Given the description of an element on the screen output the (x, y) to click on. 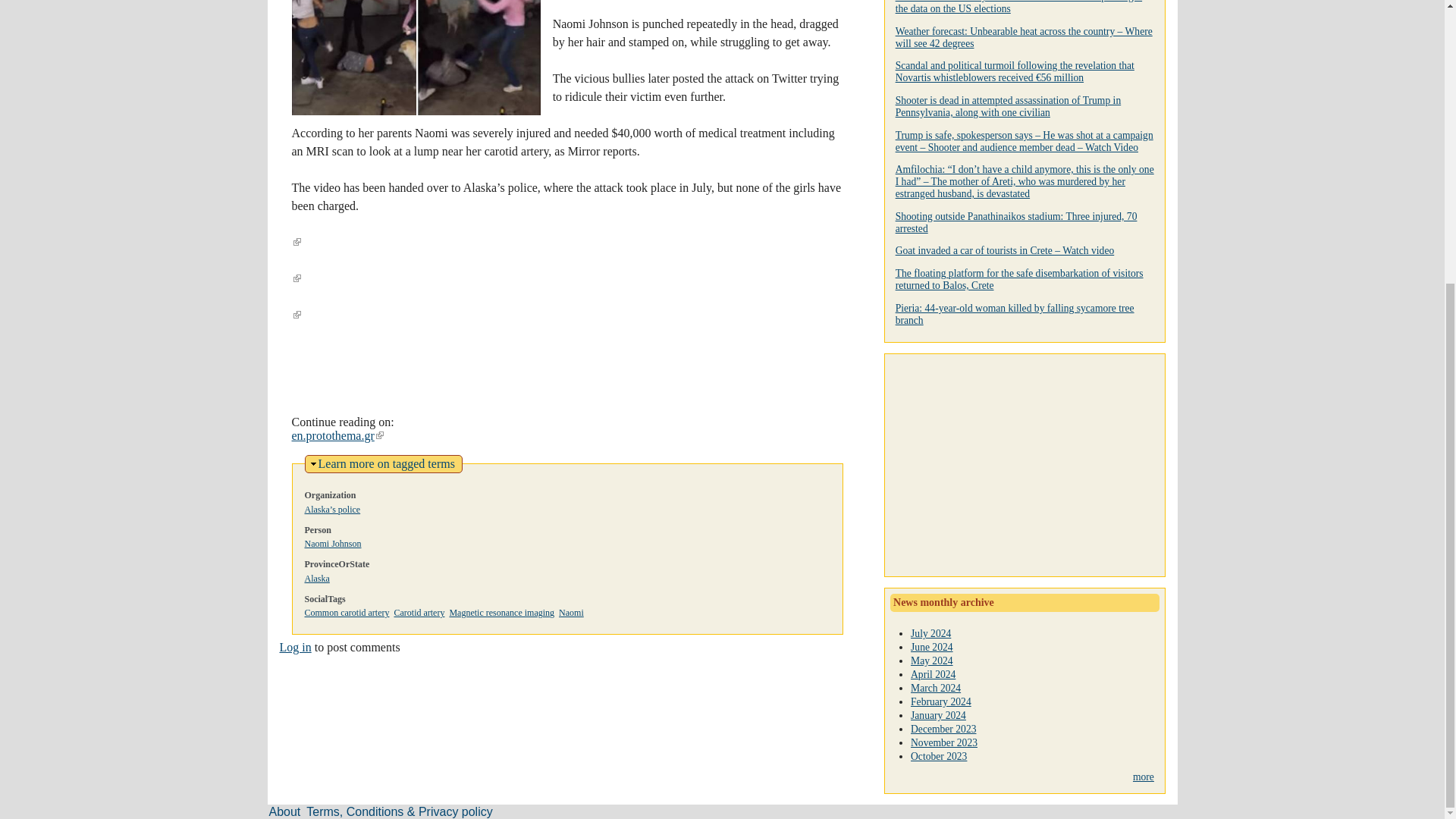
Common carotid artery (347, 612)
Alaska (317, 578)
Magnetic resonance imaging (501, 612)
Naomi (571, 612)
Naomi Johnson (332, 543)
Carotid artery (418, 612)
Log in (295, 646)
